Given the description of an element on the screen output the (x, y) to click on. 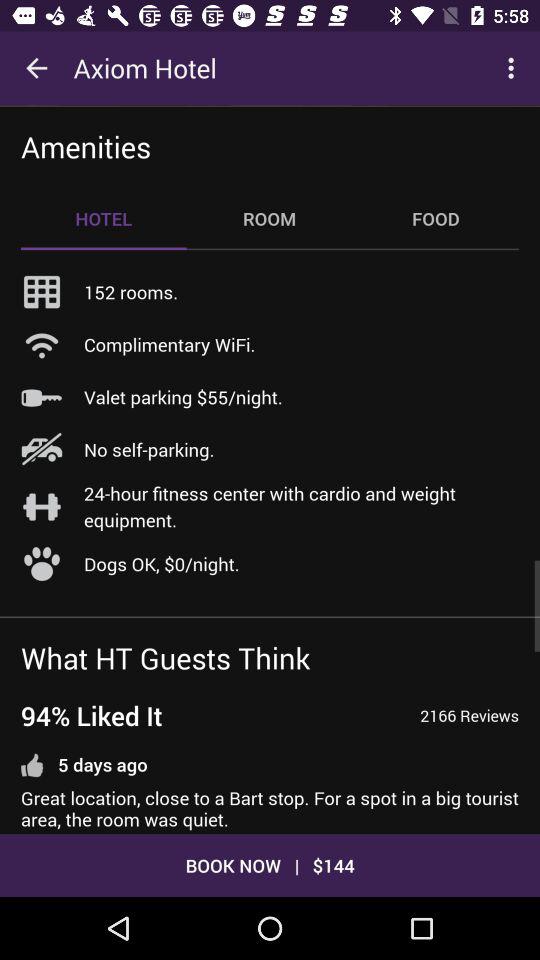
turn off the icon below 152 rooms. icon (169, 344)
